Given the description of an element on the screen output the (x, y) to click on. 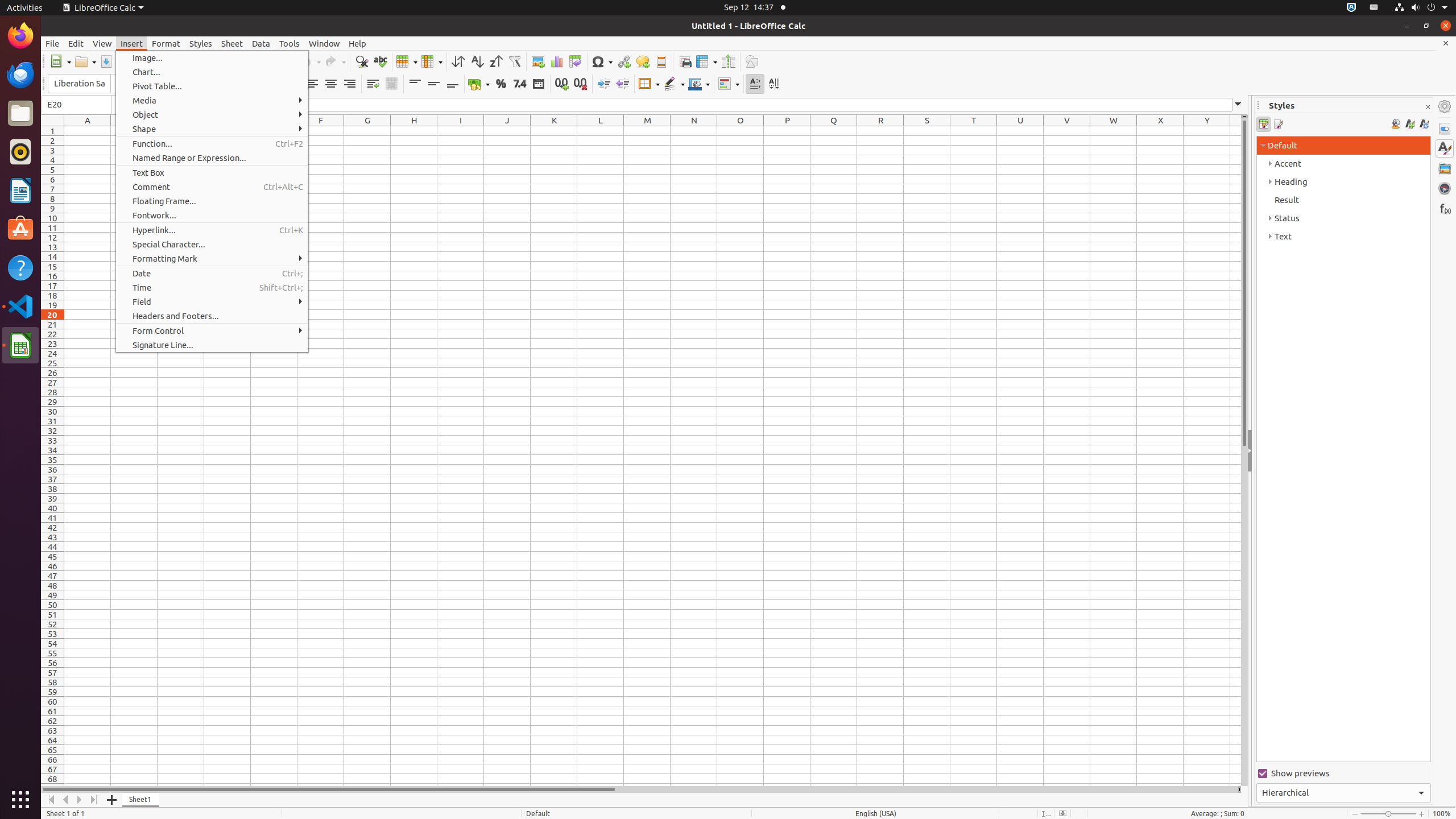
Form Control Element type: menu (212, 330)
Align Top Element type: push-button (414, 83)
K1 Element type: table-cell (553, 130)
File Element type: menu (51, 43)
Pivot Table... Element type: menu-item (212, 86)
